Given the description of an element on the screen output the (x, y) to click on. 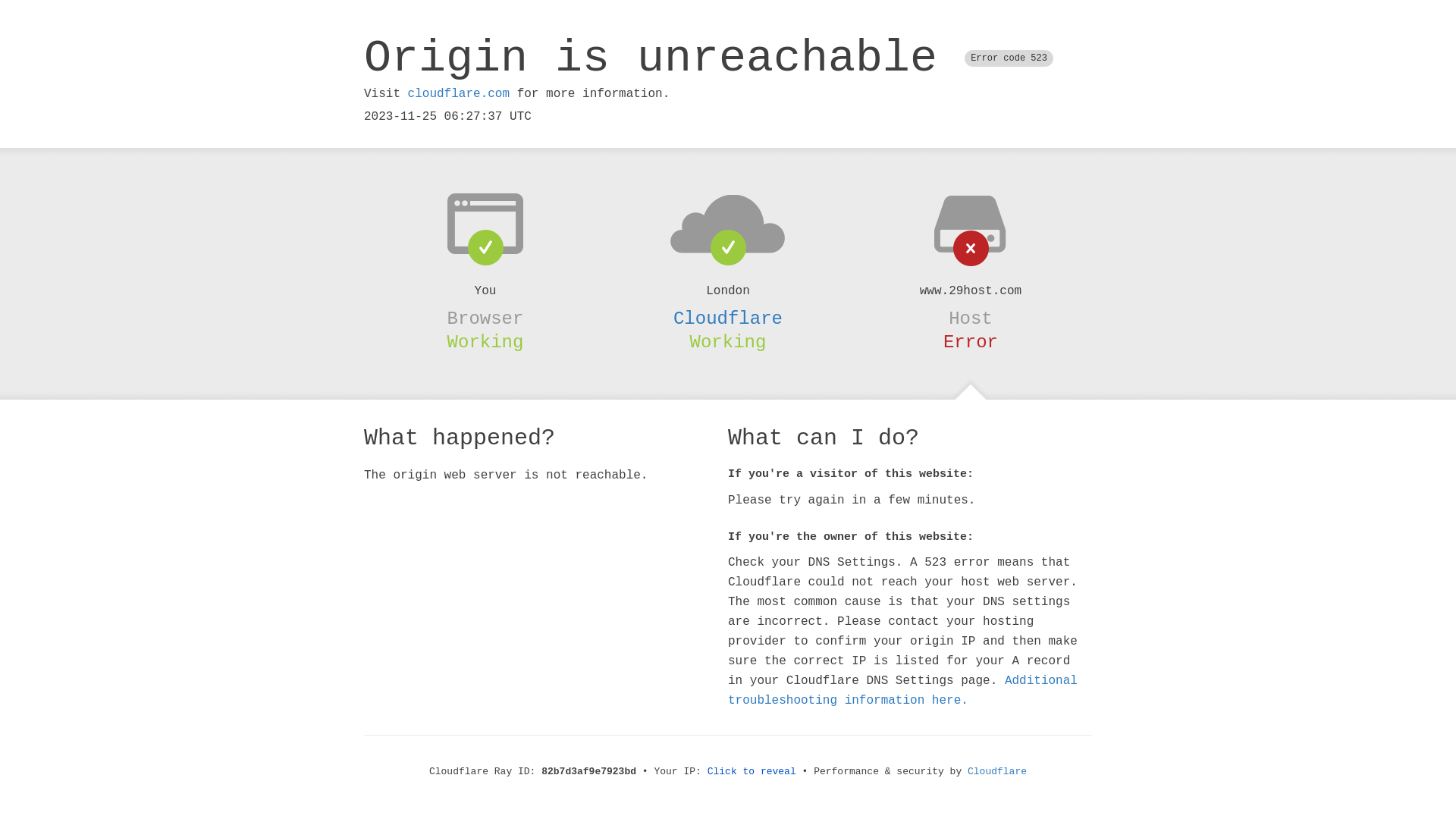
cloudflare.com Element type: text (458, 93)
Cloudflare Element type: text (996, 771)
Cloudflare Element type: text (727, 318)
Click to reveal Element type: text (751, 771)
Additional troubleshooting information here. Element type: text (902, 690)
